Given the description of an element on the screen output the (x, y) to click on. 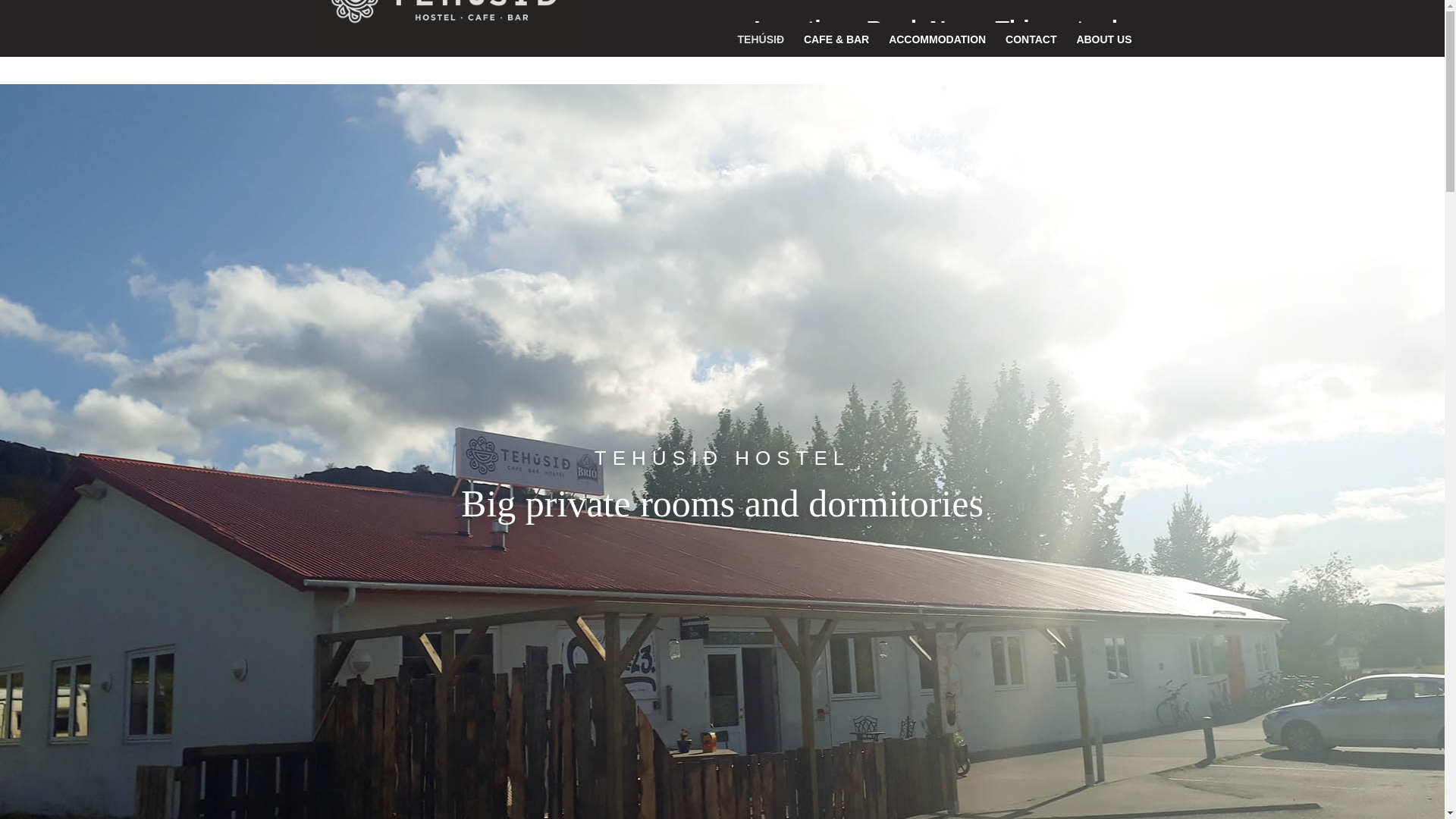
ABOUT US (1103, 45)
Book Now (922, 36)
Things to do (1063, 36)
CONTACT (1031, 45)
Location (801, 36)
ACCOMMODATION (936, 45)
